Given the description of an element on the screen output the (x, y) to click on. 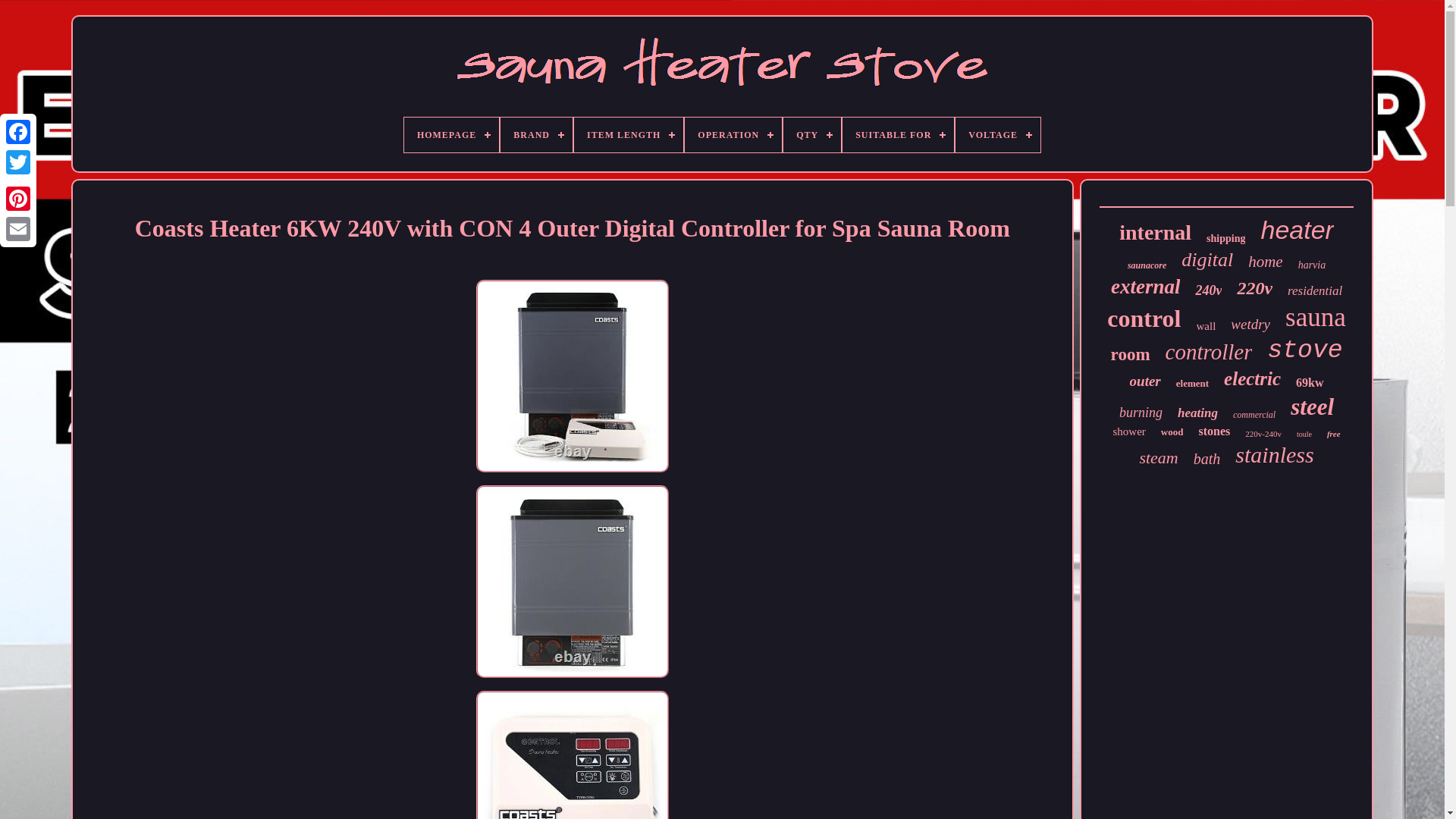
HOMEPAGE (451, 134)
BRAND (536, 134)
ITEM LENGTH (627, 134)
